Given the description of an element on the screen output the (x, y) to click on. 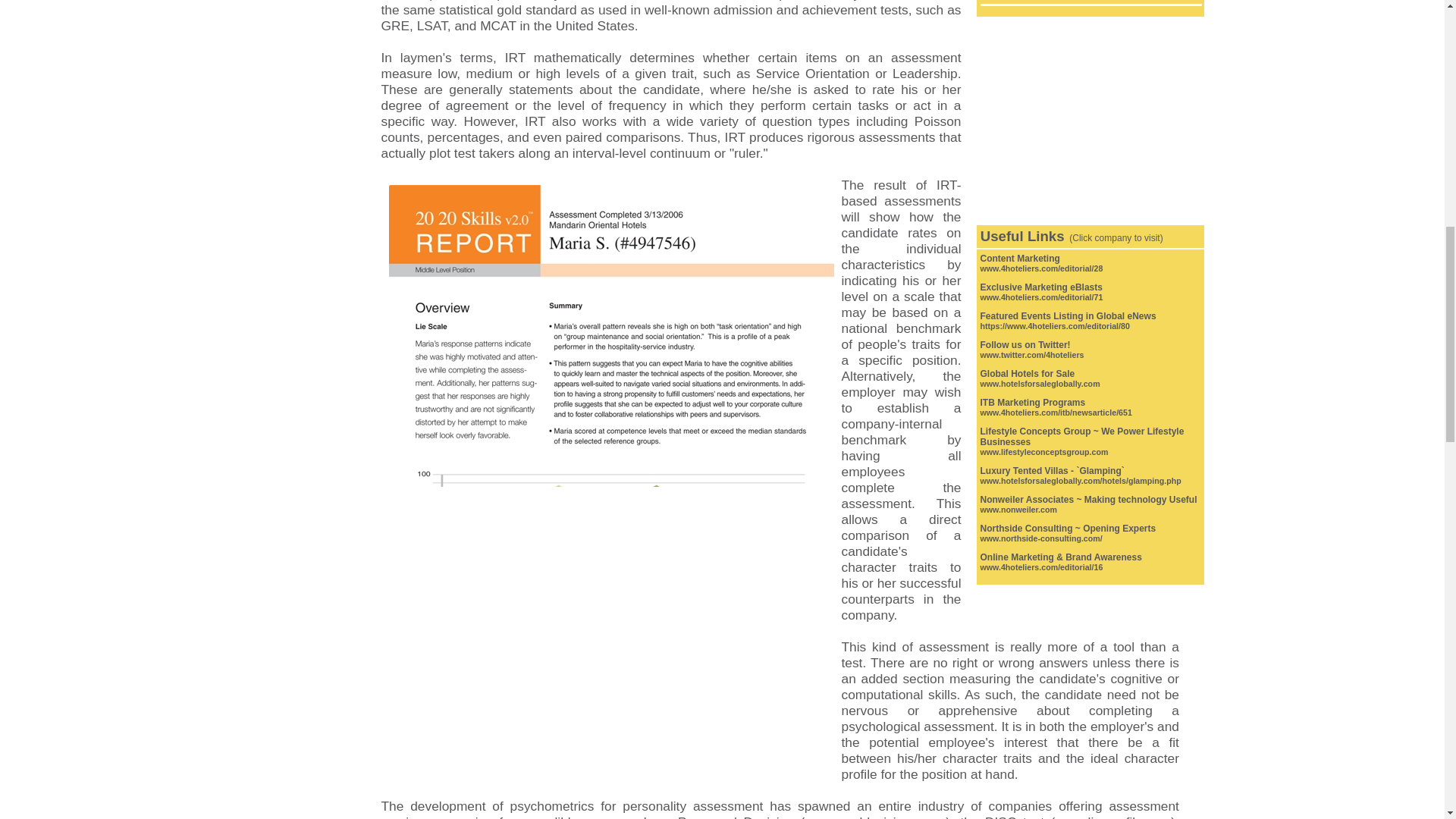
Follow us on Twitter! (1024, 344)
ITB Marketing Programs (1031, 402)
Global Hotels for Sale (1026, 373)
Exclusive Marketing eBlasts (1040, 286)
Featured Events Listing in Global eNews (1067, 316)
Content Marketing (1019, 258)
